Given the description of an element on the screen output the (x, y) to click on. 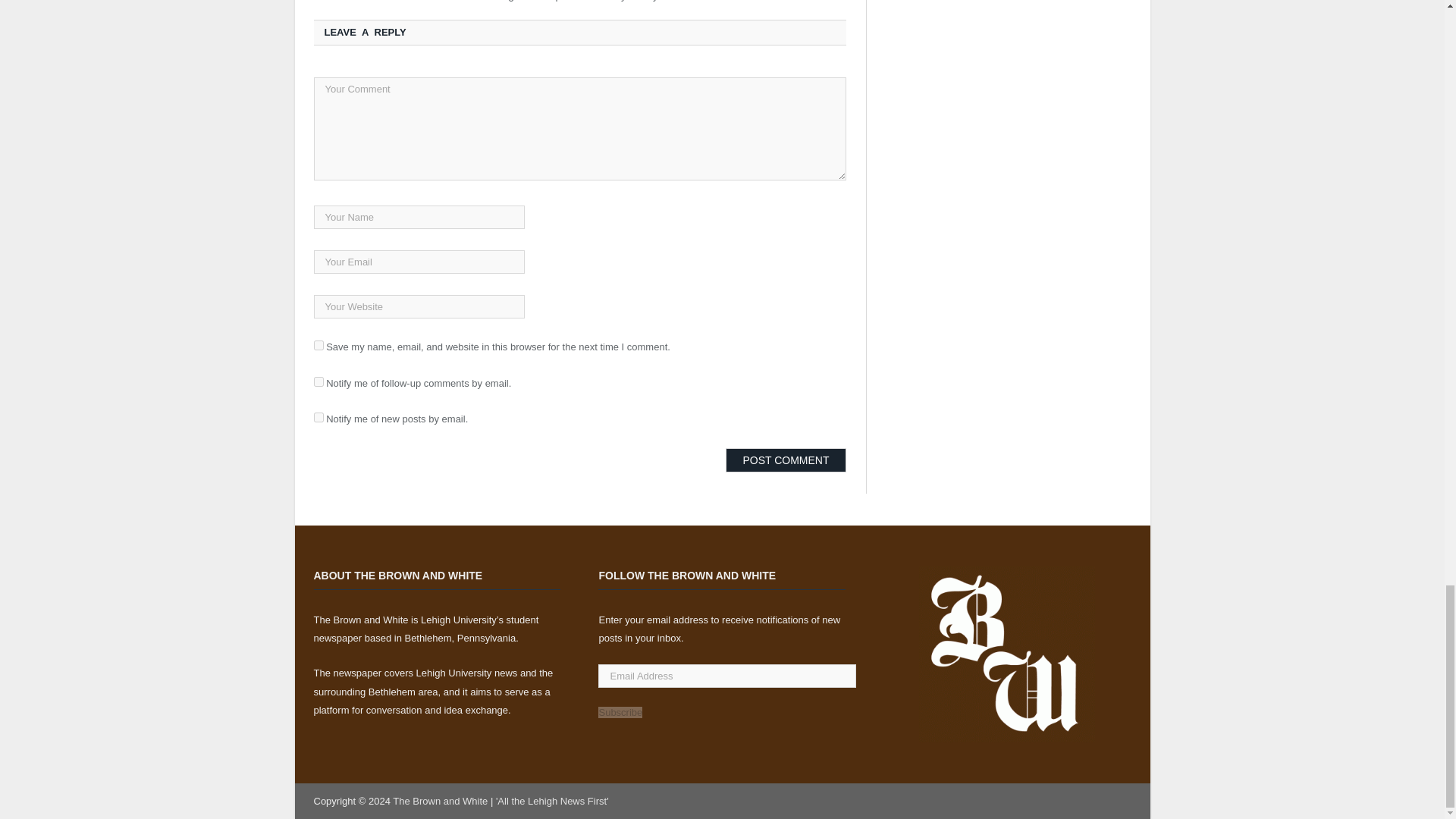
Post Comment (785, 459)
yes (318, 345)
subscribe (318, 417)
subscribe (318, 381)
